Given the description of an element on the screen output the (x, y) to click on. 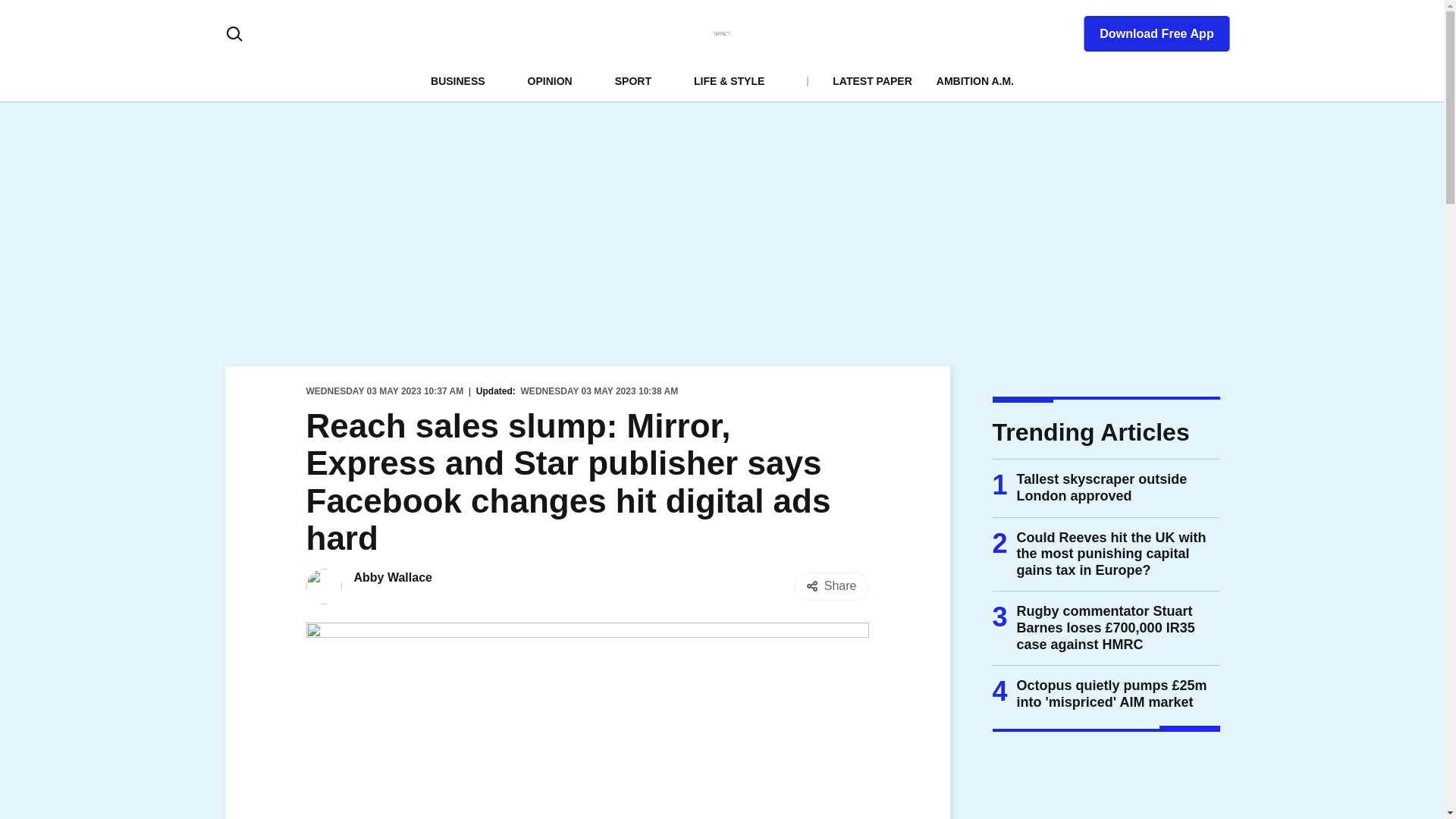
SPORT (632, 80)
CityAM (721, 33)
OPINION (549, 80)
BUSINESS (457, 80)
Download Free App (1146, 30)
